Given the description of an element on the screen output the (x, y) to click on. 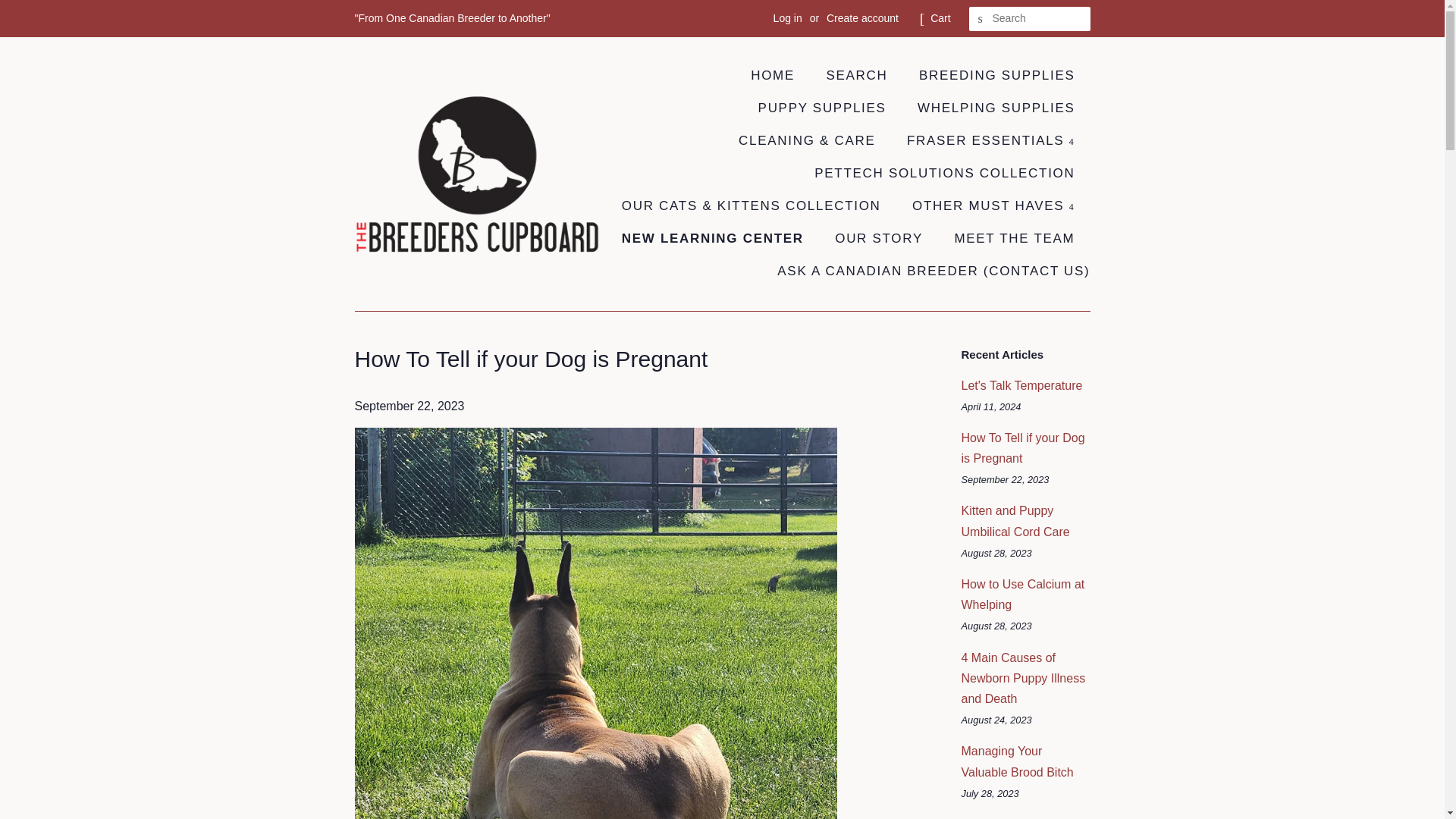
OTHER MUST HAVES (995, 206)
PETTECH SOLUTIONS COLLECTION (946, 174)
SEARCH (857, 75)
SEARCH (980, 18)
PUPPY SUPPLIES (823, 108)
Create account (862, 18)
Log in (787, 18)
WHELPING SUPPLIES (997, 108)
FRASER ESSENTIALS (992, 141)
BREEDING SUPPLIES (998, 75)
HOME (780, 75)
Cart (940, 18)
